Given the description of an element on the screen output the (x, y) to click on. 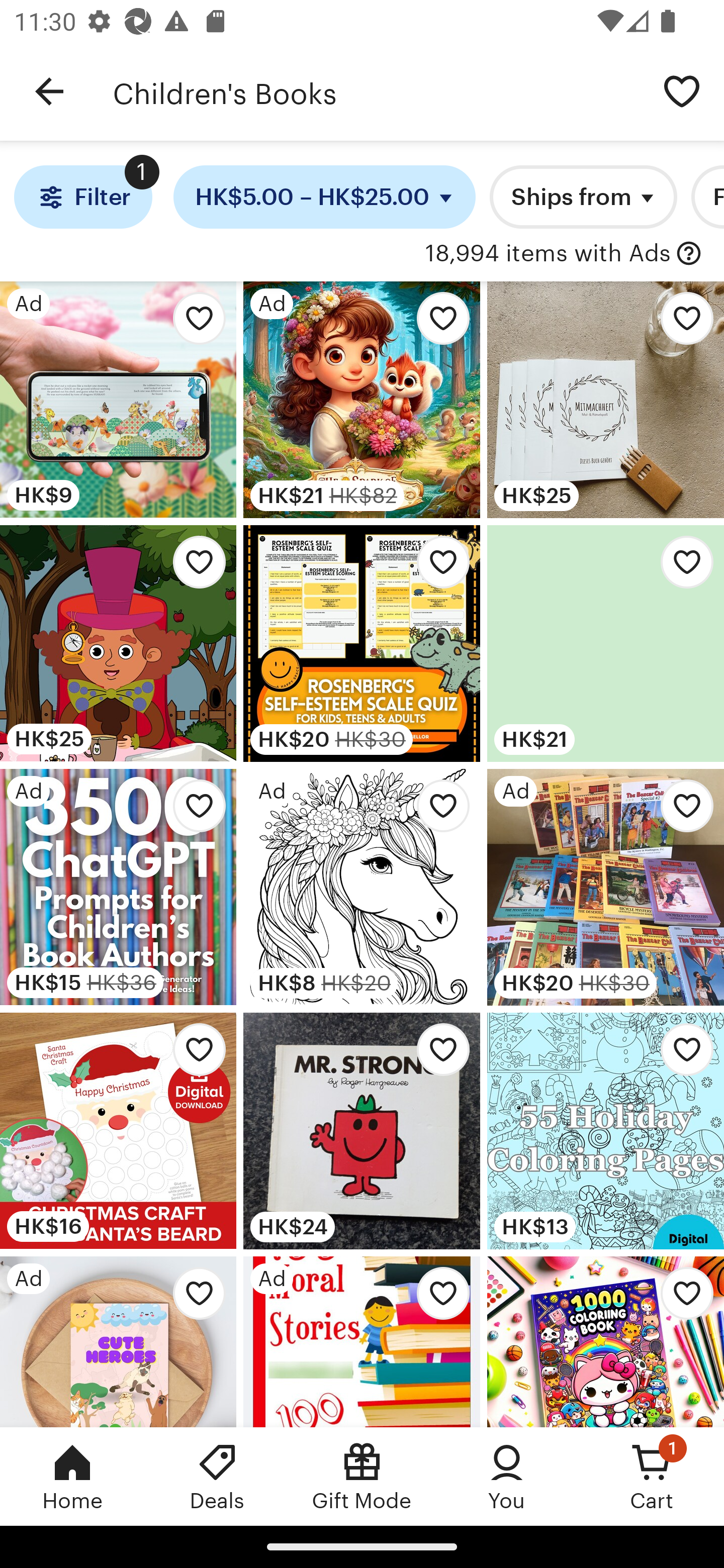
Navigate up (49, 91)
Save search (681, 90)
Children's Books (375, 91)
Filter (82, 197)
HK$5.00 – HK$25.00 (324, 197)
Ships from (582, 197)
18,994 items with Ads (548, 253)
with Ads (688, 253)
Deals (216, 1475)
Gift Mode (361, 1475)
You (506, 1475)
Cart, 1 new notification Cart (651, 1475)
